Given the description of an element on the screen output the (x, y) to click on. 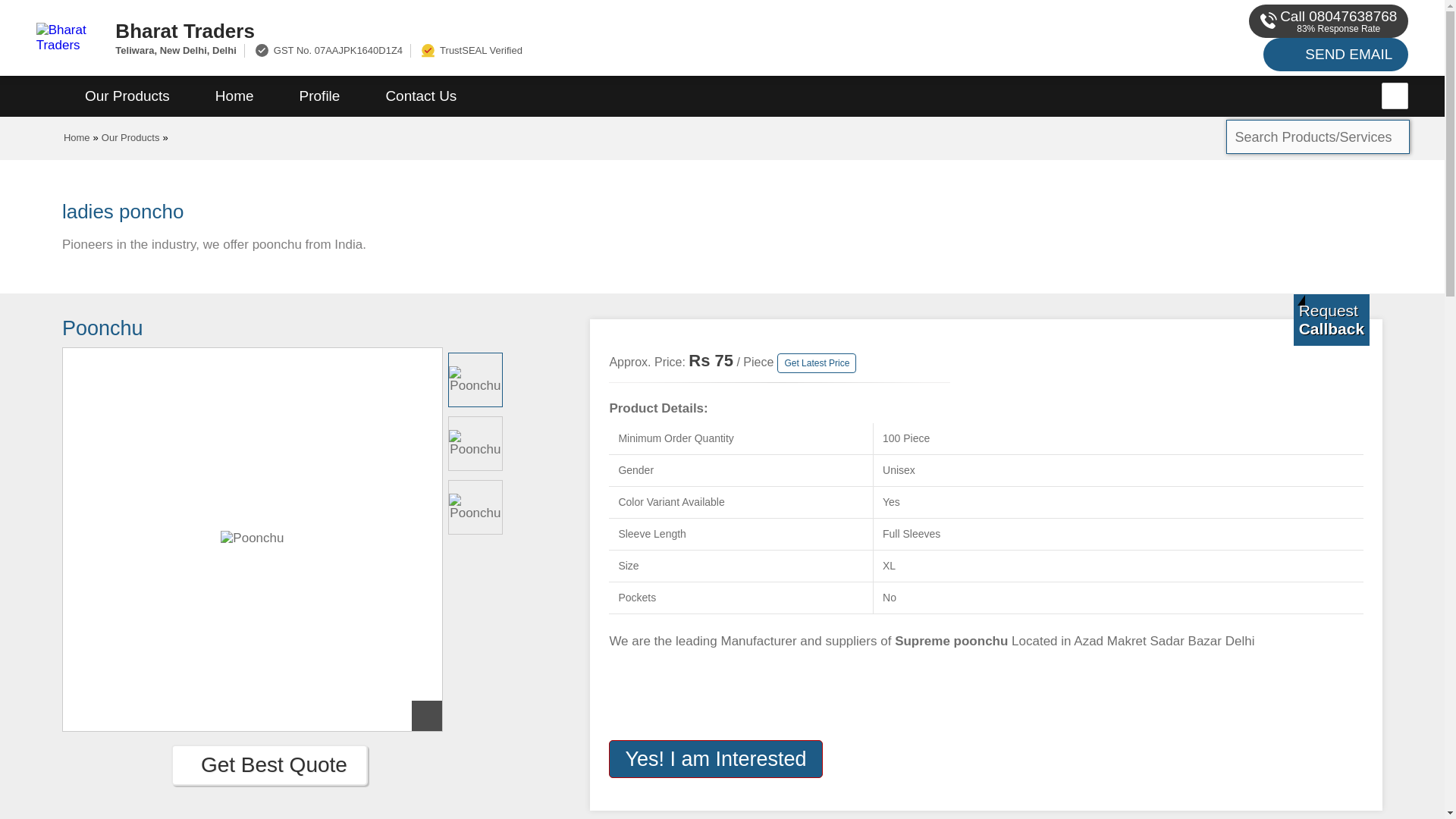
Home (77, 137)
Our Products (127, 96)
Contact Us (420, 96)
Home (234, 96)
Get a Call from us (1332, 319)
Bharat Traders (552, 31)
Our Products (130, 137)
Profile (319, 96)
